Given the description of an element on the screen output the (x, y) to click on. 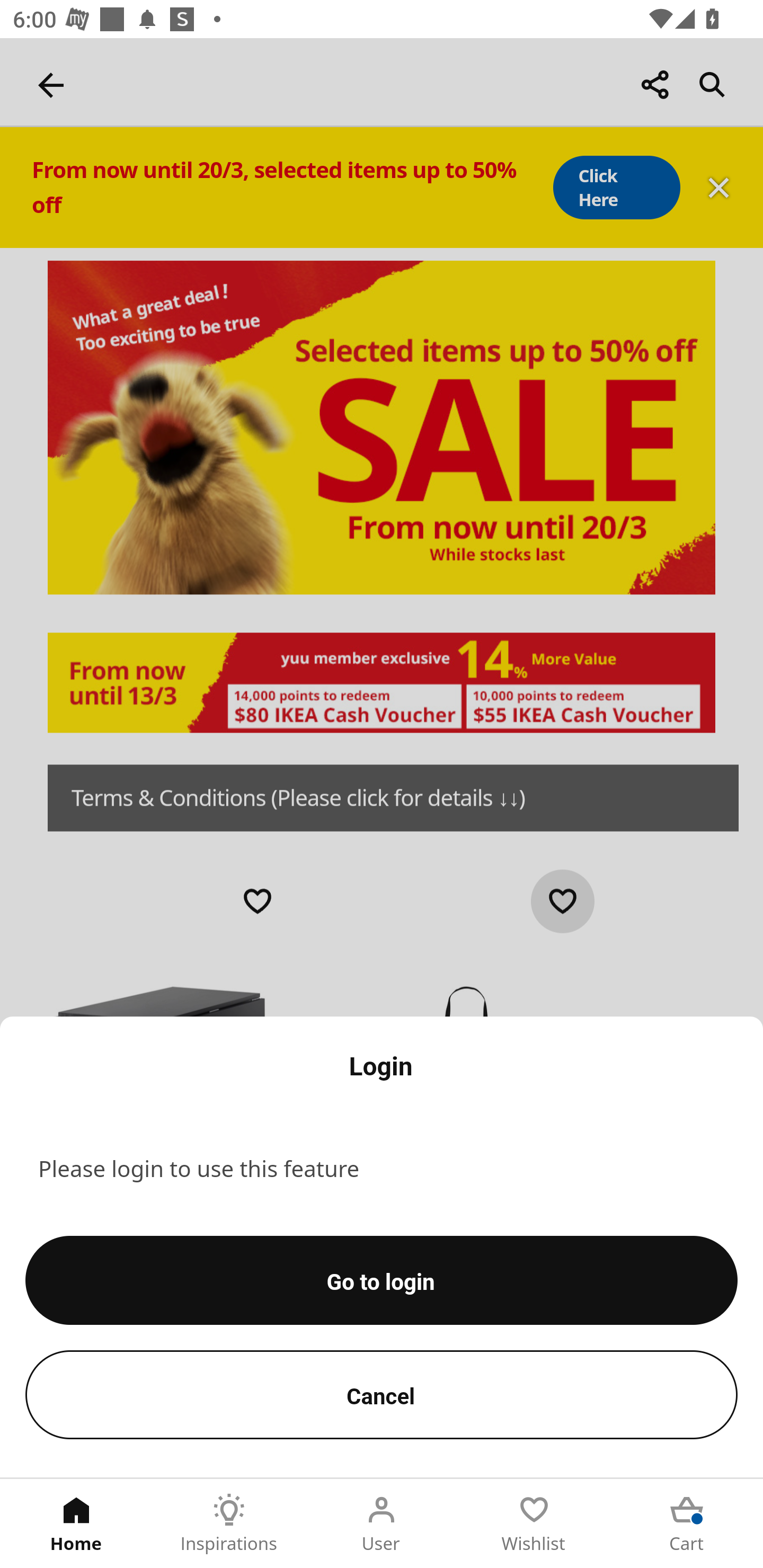
Go to login (381, 1279)
Cancel (381, 1394)
Home
Tab 1 of 5 (76, 1522)
Inspirations
Tab 2 of 5 (228, 1522)
User
Tab 3 of 5 (381, 1522)
Wishlist
Tab 4 of 5 (533, 1522)
Cart
Tab 5 of 5 (686, 1522)
